Given the description of an element on the screen output the (x, y) to click on. 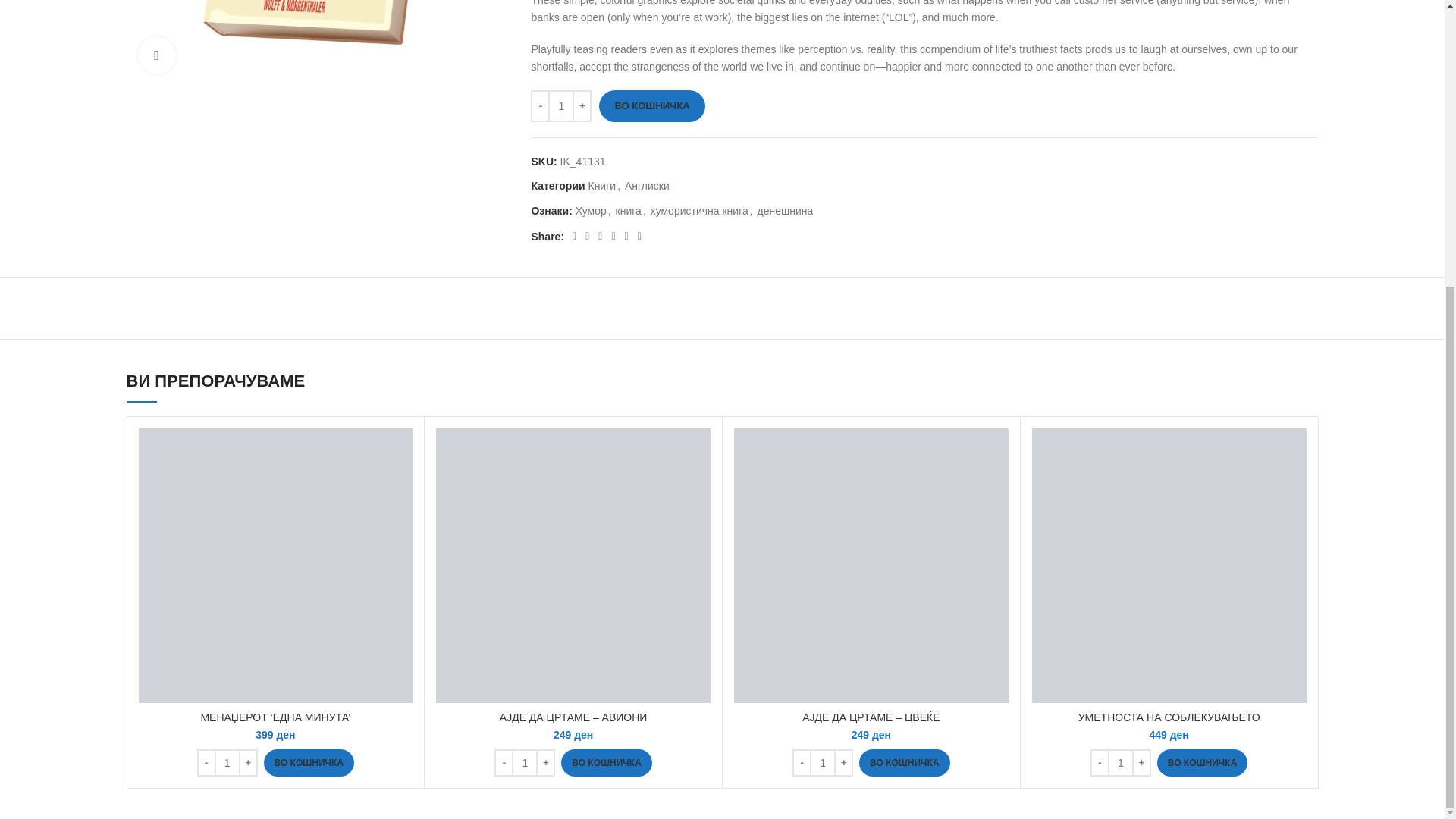
truth (317, 42)
